Given the description of an element on the screen output the (x, y) to click on. 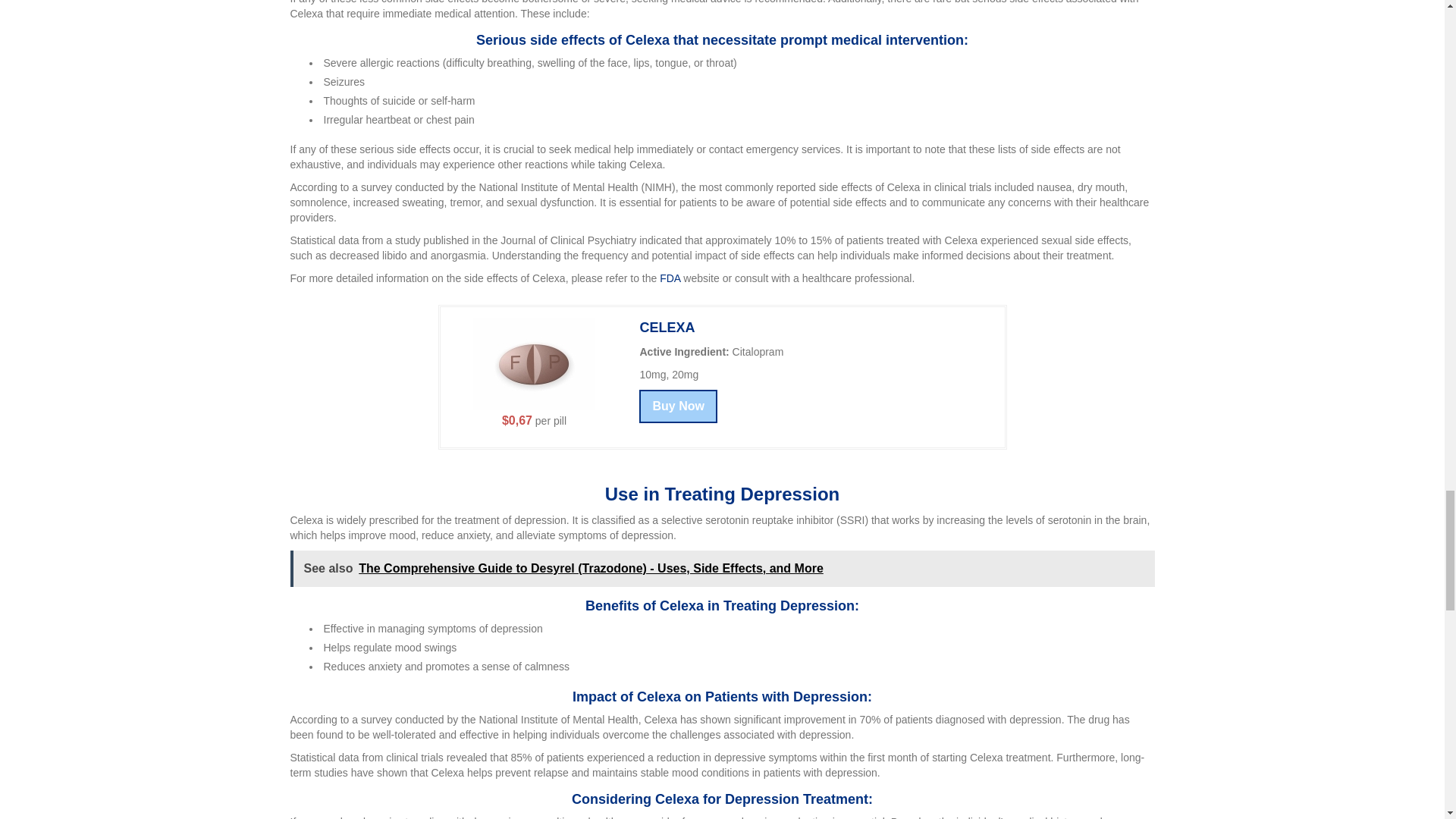
Buy Now (677, 406)
FDA (669, 277)
